Given the description of an element on the screen output the (x, y) to click on. 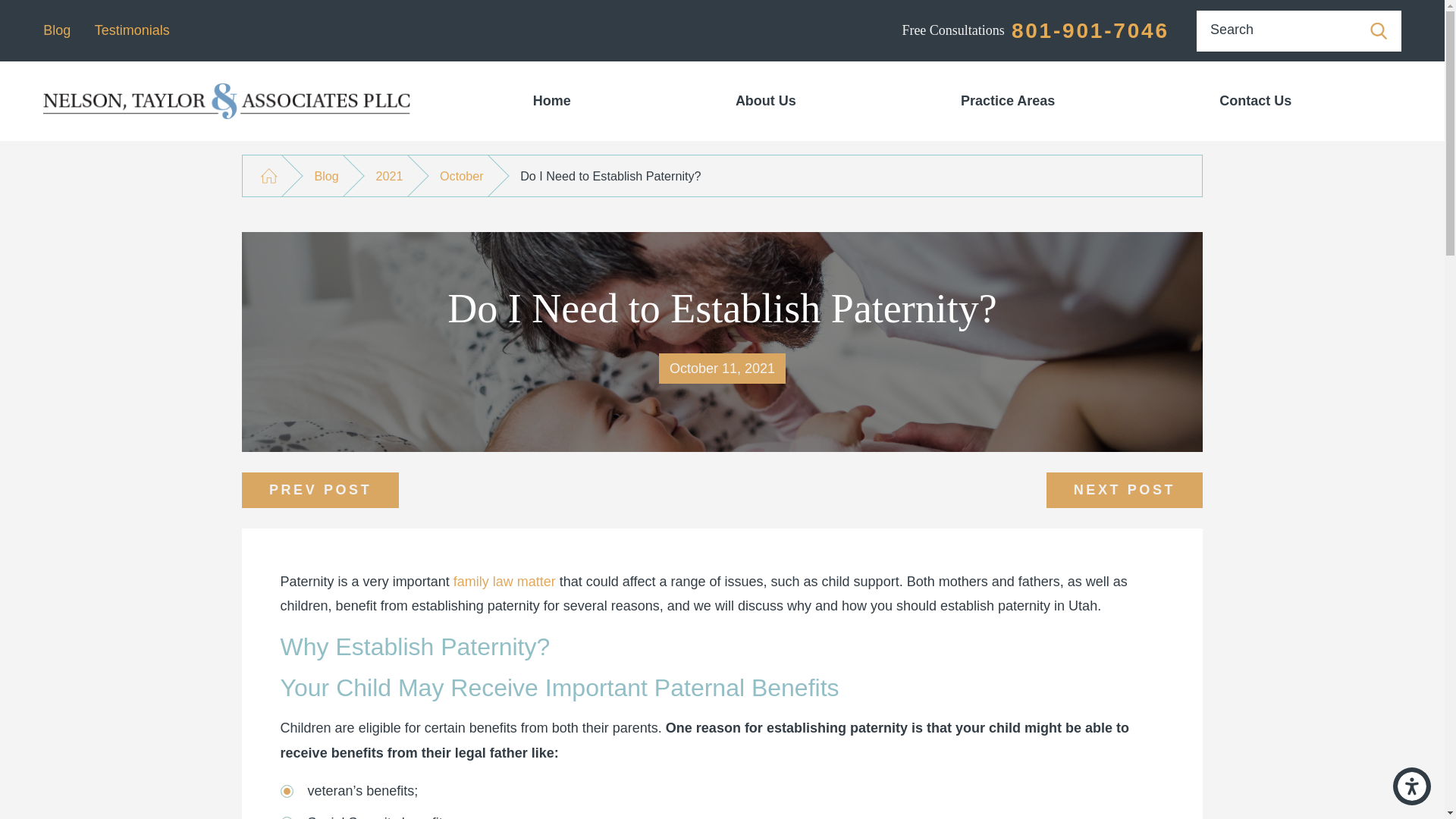
PREV POST (319, 489)
Testimonials (132, 29)
Practice Areas (1007, 100)
Blog (56, 29)
About Us (764, 100)
Go Home (269, 176)
801-901-7046 (1090, 31)
October (461, 176)
Open the accessibility options menu (1412, 786)
Contact Us (1255, 100)
Search Icon (1378, 30)
family law matter (504, 581)
Search Our Site (1378, 30)
NEXT POST (1124, 489)
Home (550, 100)
